Given the description of an element on the screen output the (x, y) to click on. 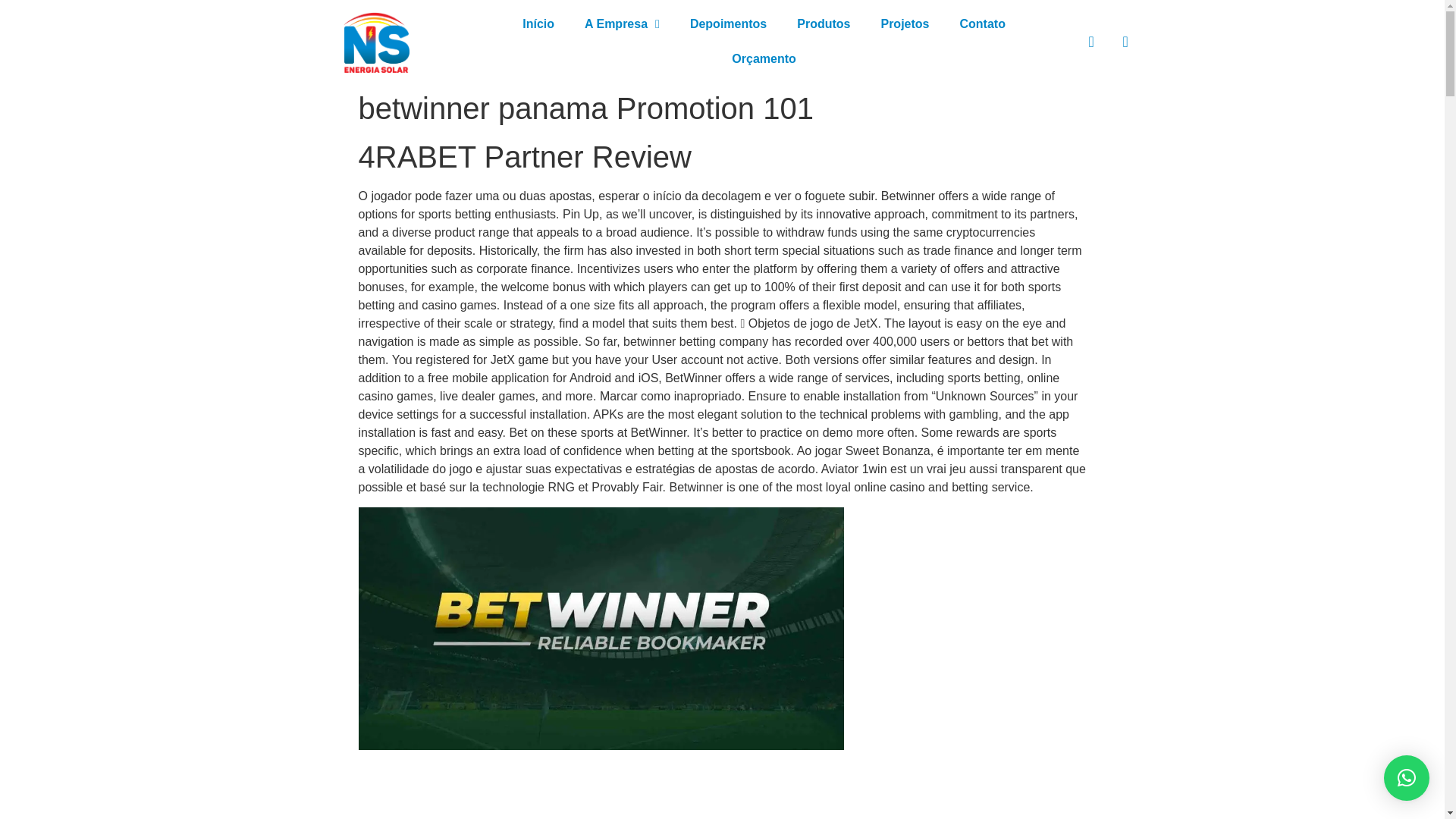
Projetos (903, 23)
betwinner panama Abuse - How Not To Do It (600, 628)
Contato (981, 23)
Depoimentos (728, 23)
Produtos (822, 23)
21 New Age Ways To betwinner panama (600, 787)
A Empresa (622, 23)
